Given the description of an element on the screen output the (x, y) to click on. 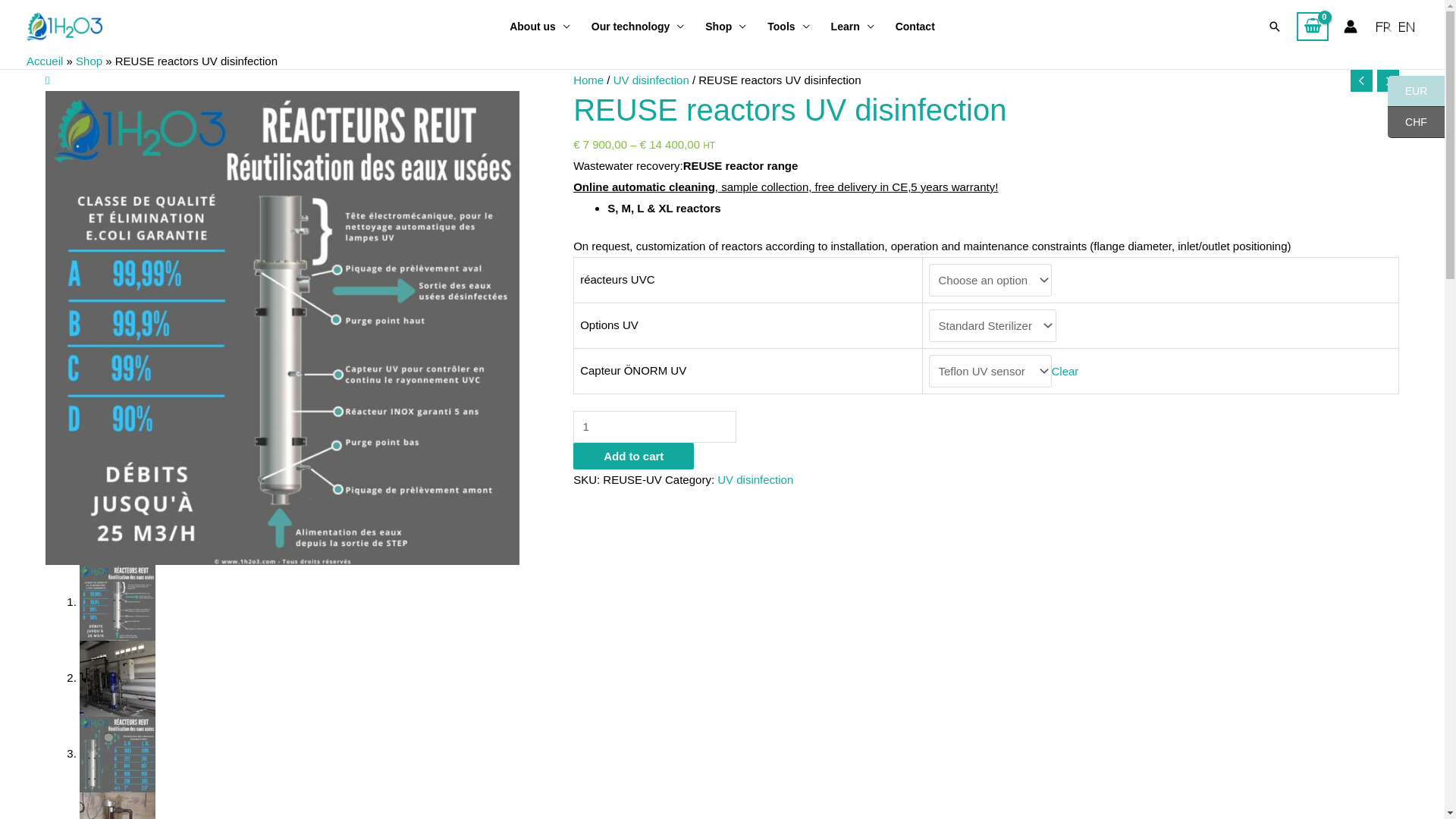
Search Element type: text (1274, 26)
Shop Element type: text (725, 26)
Contact Element type: text (914, 26)
UV disinfection Element type: text (651, 79)
Home Element type: text (588, 79)
CHF Element type: text (1415, 122)
REUSE 1h2o3 reactor description Element type: hover (282, 327)
Clear Element type: text (1065, 370)
Learn Element type: text (852, 26)
Add to cart Element type: text (633, 455)
Shop Element type: text (88, 60)
About us Element type: text (539, 26)
Tools Element type: text (787, 26)
Accueil Element type: text (44, 60)
UV disinfection Element type: text (755, 479)
Our technology Element type: text (637, 26)
EUR Element type: text (1415, 90)
